Given the description of an element on the screen output the (x, y) to click on. 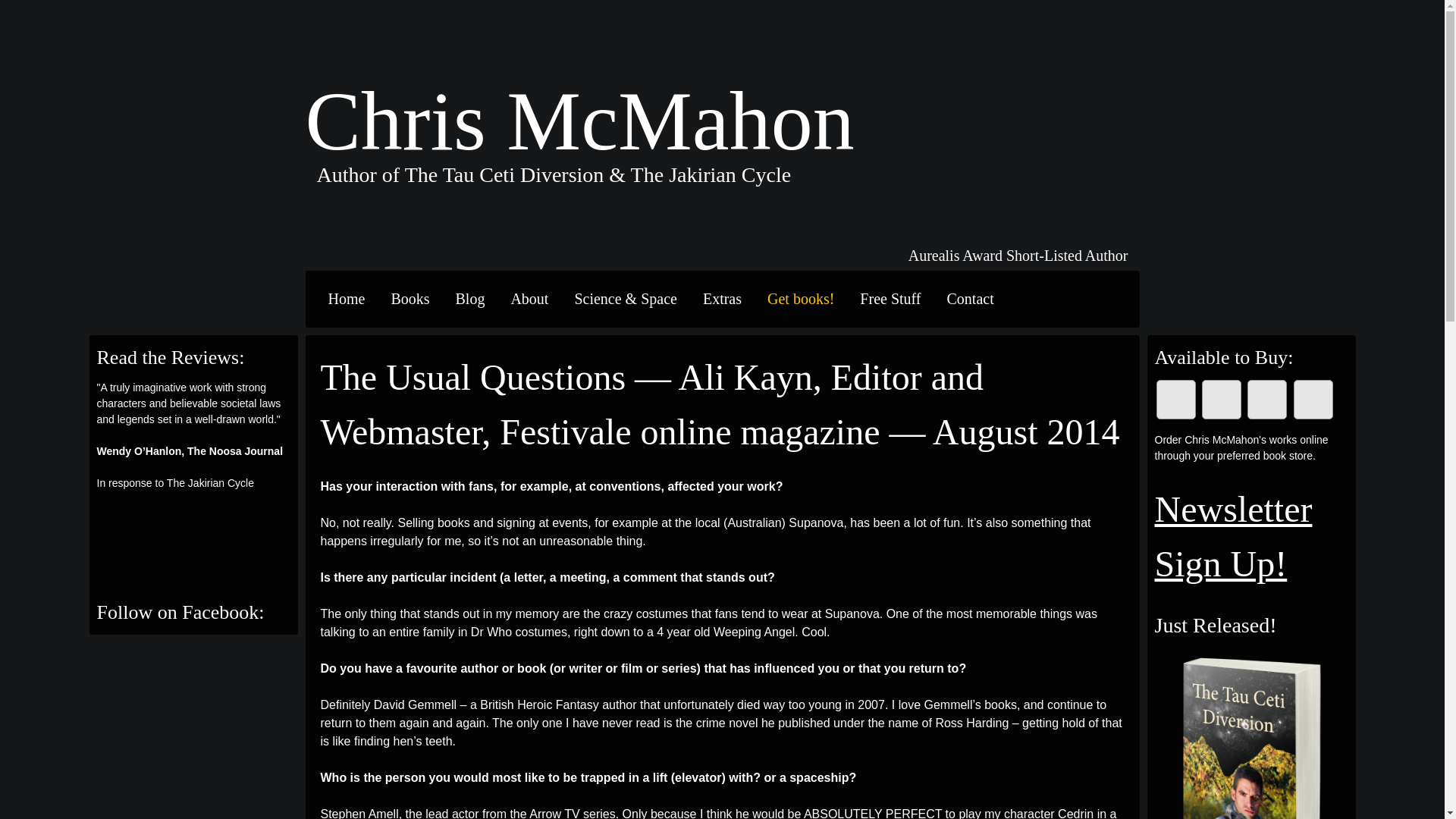
Chris McMahon (578, 121)
About (528, 299)
Books (409, 299)
Blog (469, 299)
Extras (722, 299)
Home (346, 299)
